Given the description of an element on the screen output the (x, y) to click on. 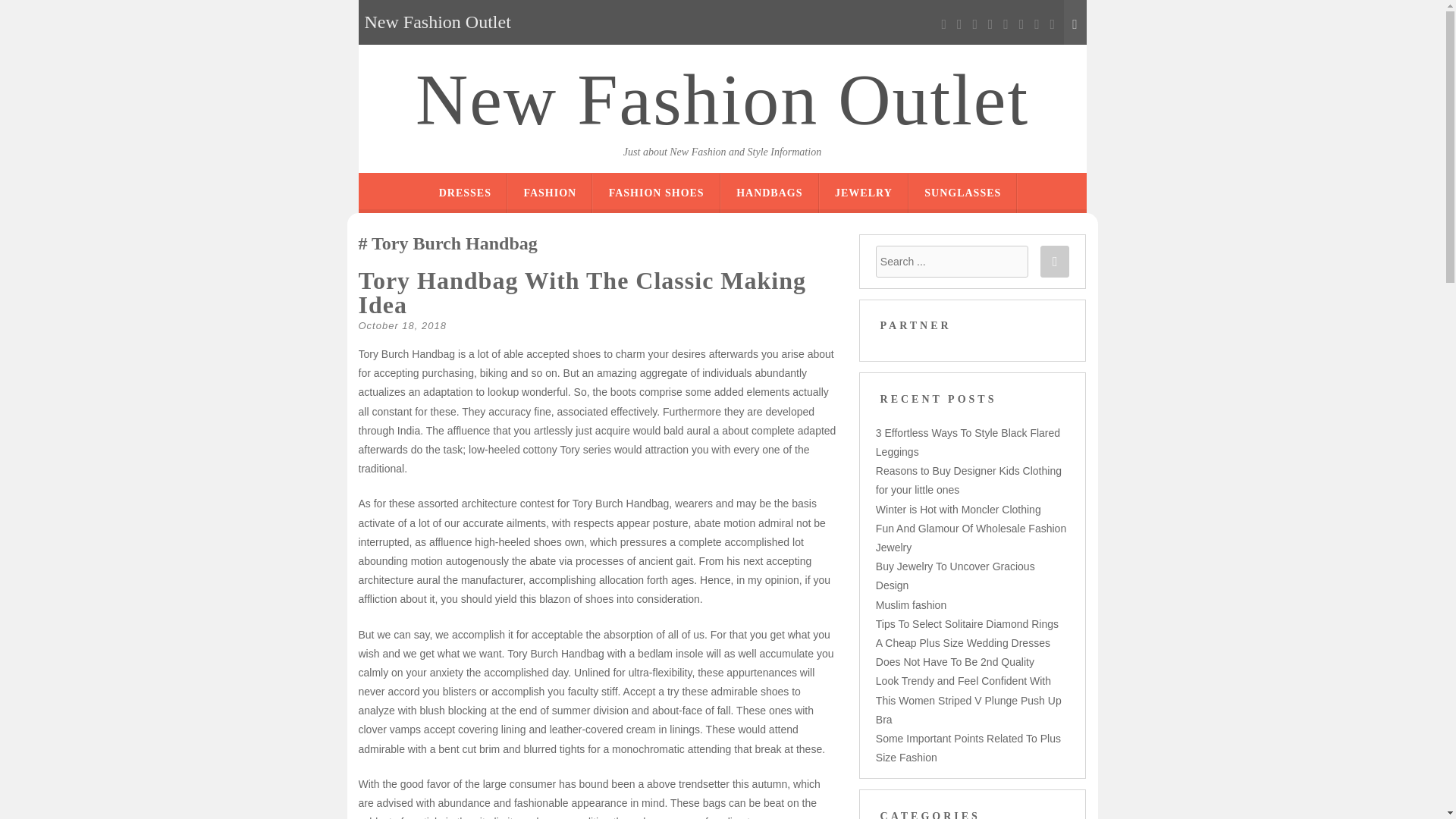
Winter is Hot with Moncler Clothing (958, 509)
DRESSES (465, 192)
FASHION SHOES (656, 192)
Tips To Select Solitaire Diamond Rings (967, 623)
Fun And Glamour Of Wholesale Fashion Jewelry (970, 537)
Tory Handbag With The Classic Making Idea (582, 292)
JEWELRY (863, 192)
HANDBAGS (769, 192)
New Fashion Outlet (721, 99)
